Given the description of an element on the screen output the (x, y) to click on. 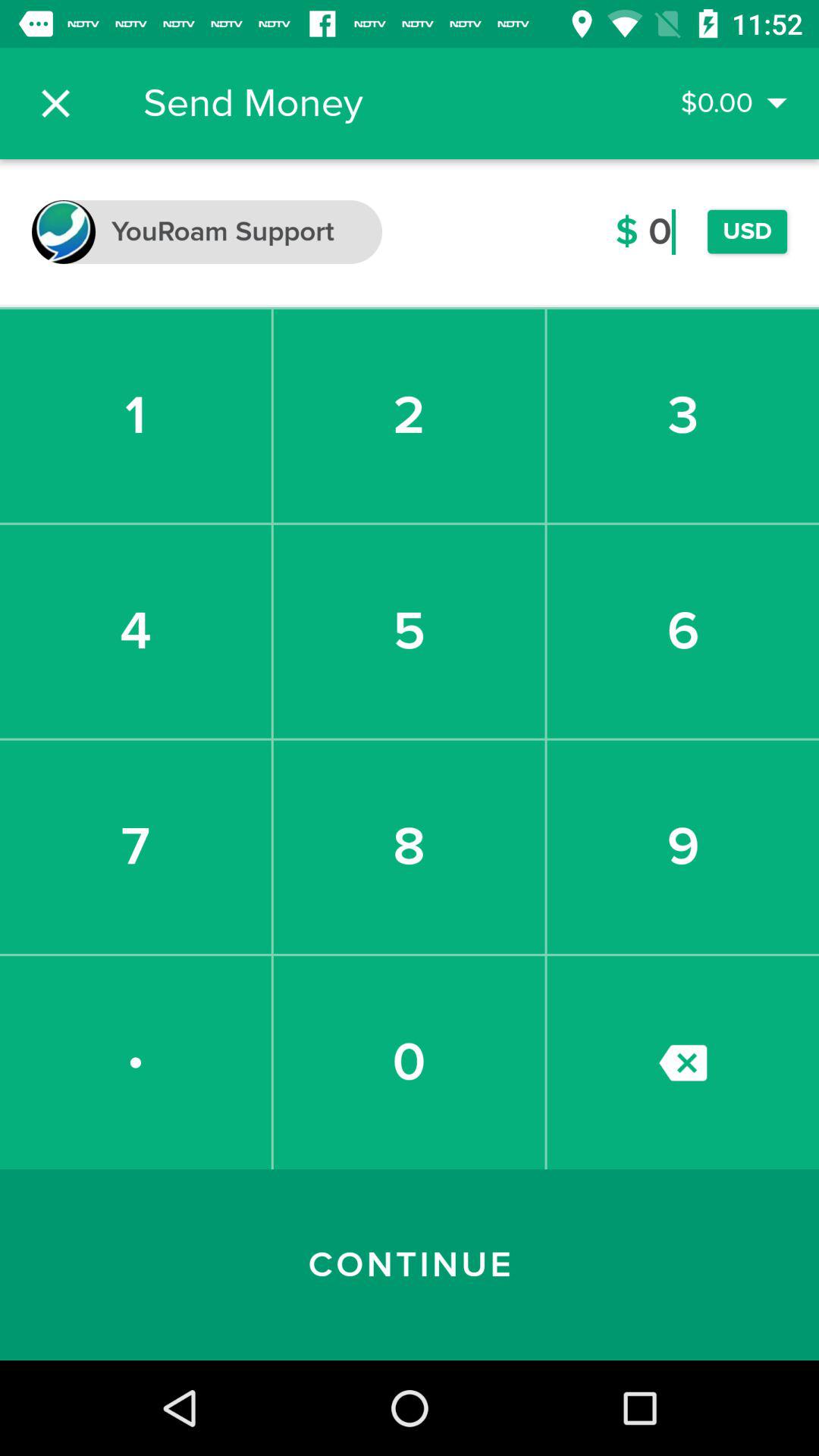
flip until 8 icon (408, 846)
